Given the description of an element on the screen output the (x, y) to click on. 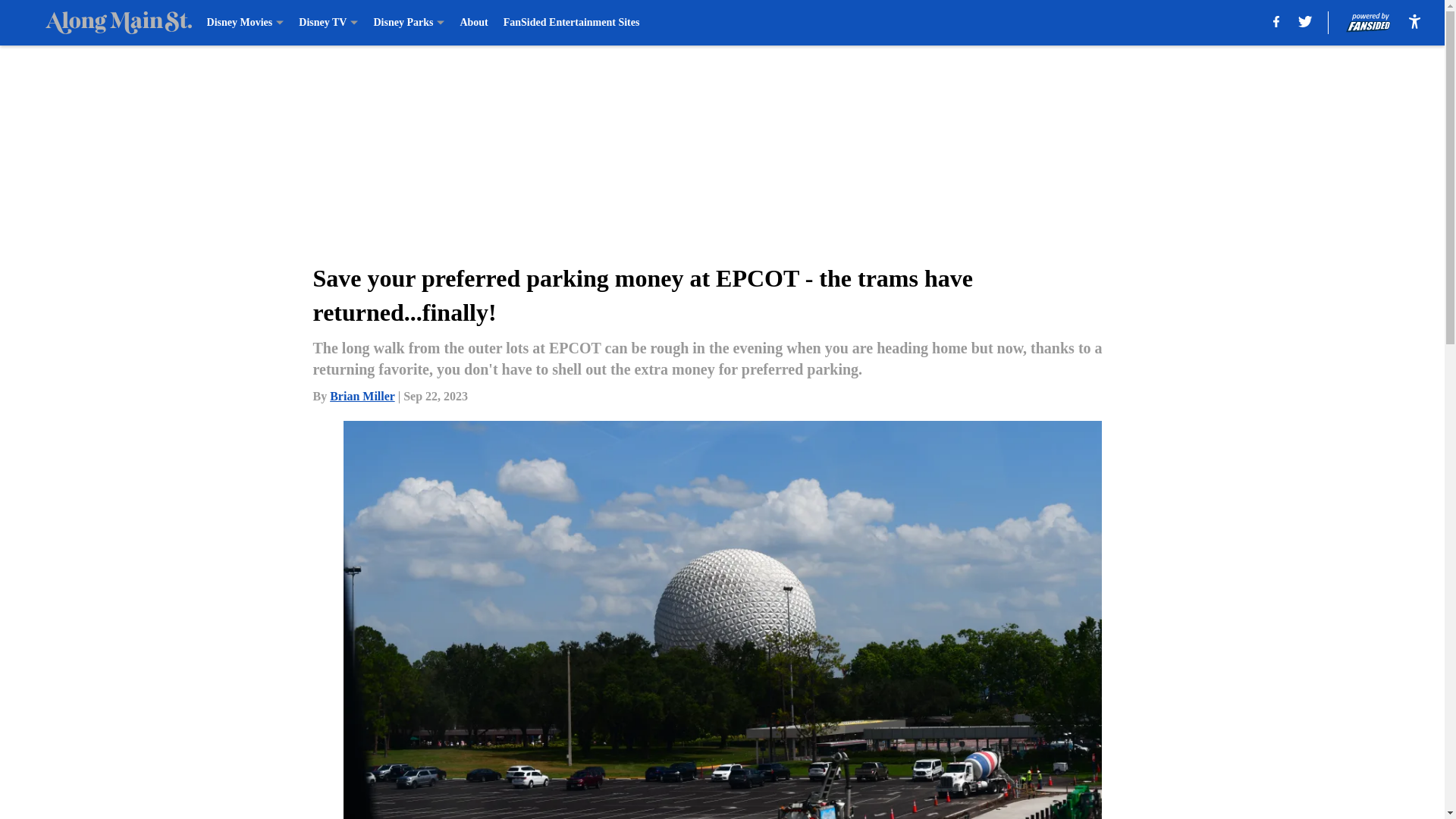
Disney Parks (408, 22)
Disney Movies (244, 22)
FanSided Entertainment Sites (571, 22)
Disney TV (328, 22)
Brian Miller (362, 395)
About (473, 22)
